Given the description of an element on the screen output the (x, y) to click on. 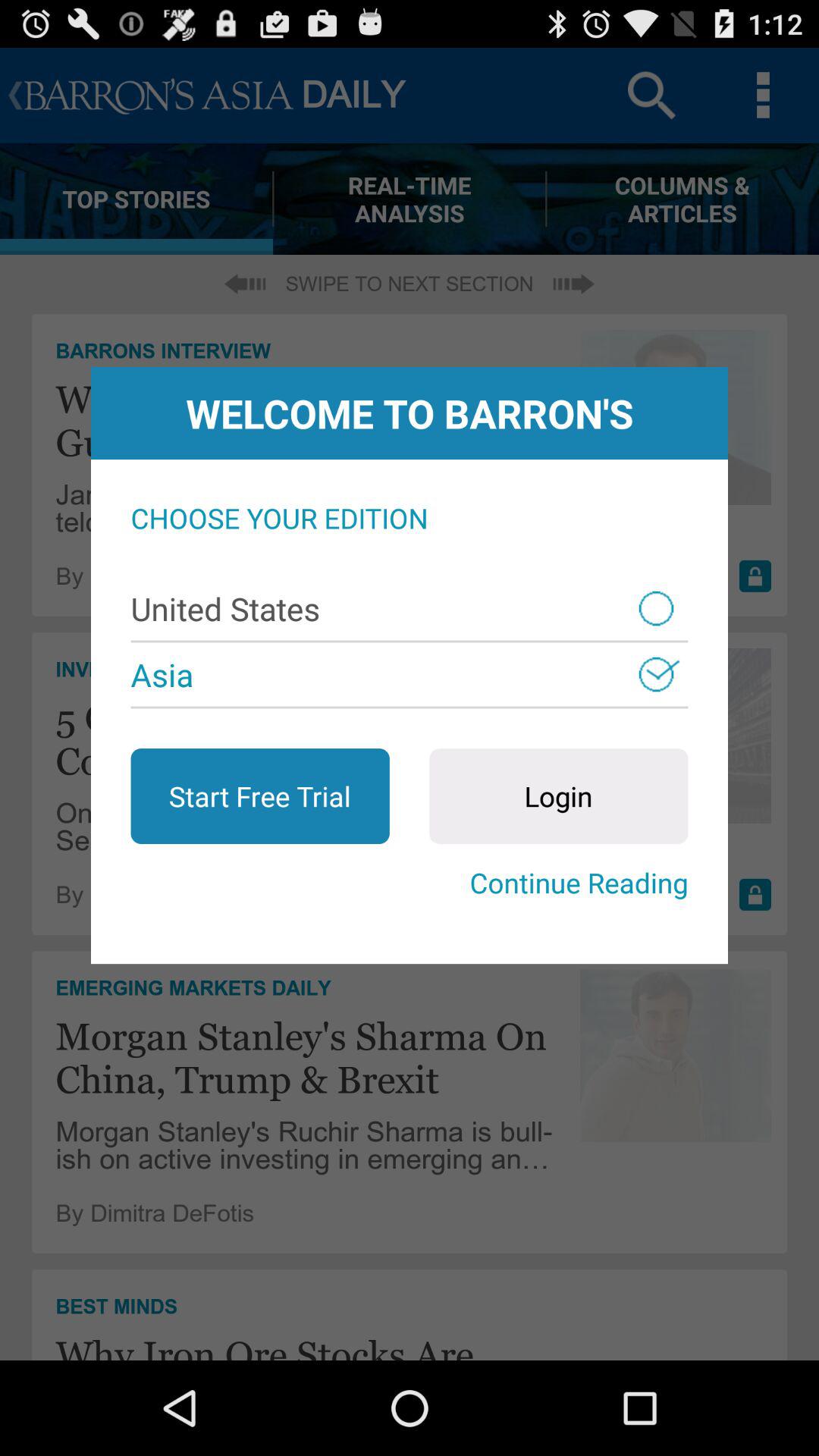
tap the icon on the right (558, 796)
